Given the description of an element on the screen output the (x, y) to click on. 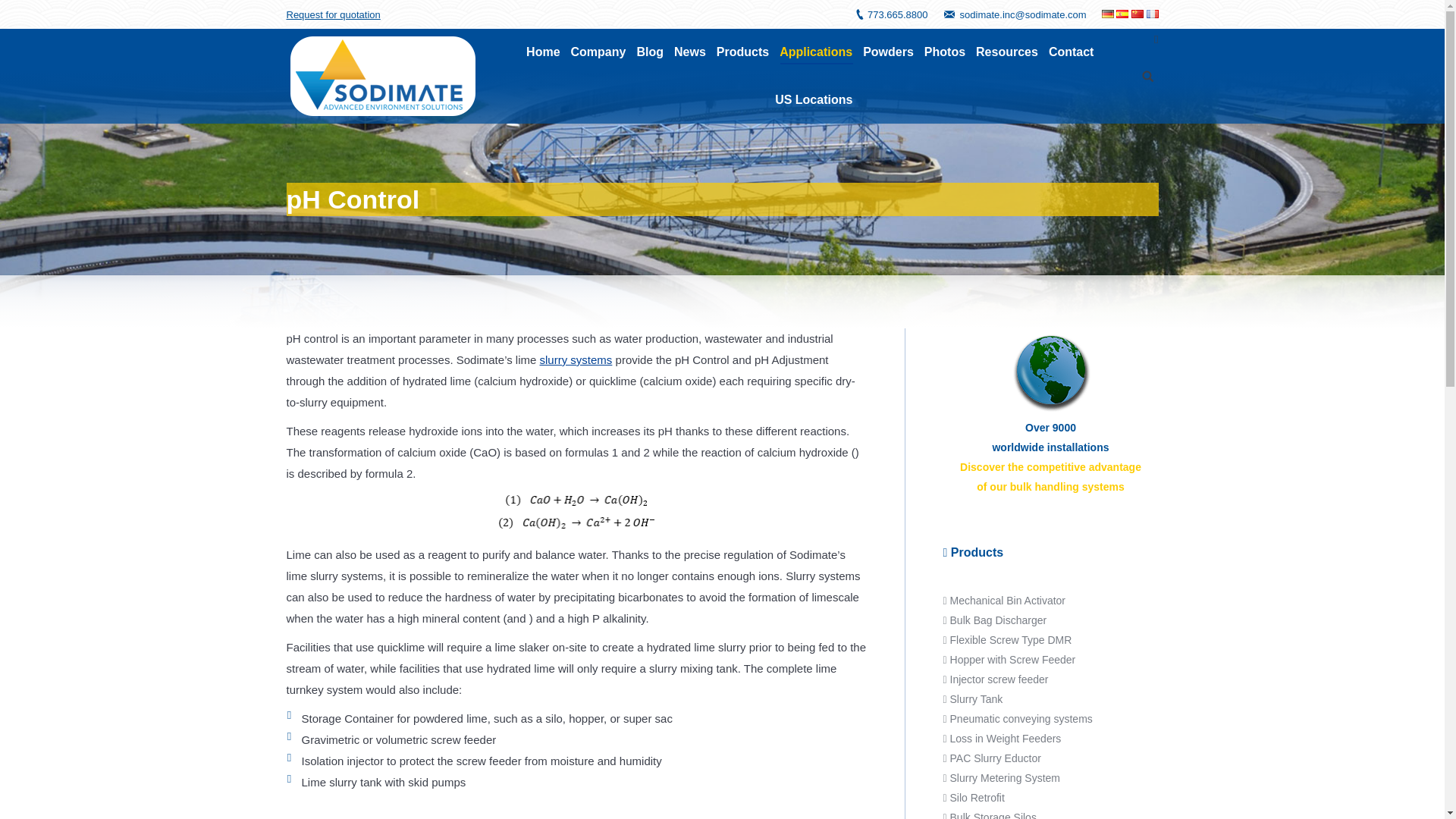
773.665.8800 (897, 14)
Applications (815, 52)
Request for quotation (333, 14)
Home (542, 52)
Products (742, 52)
News (689, 52)
Company (598, 52)
Blog (649, 52)
